Given the description of an element on the screen output the (x, y) to click on. 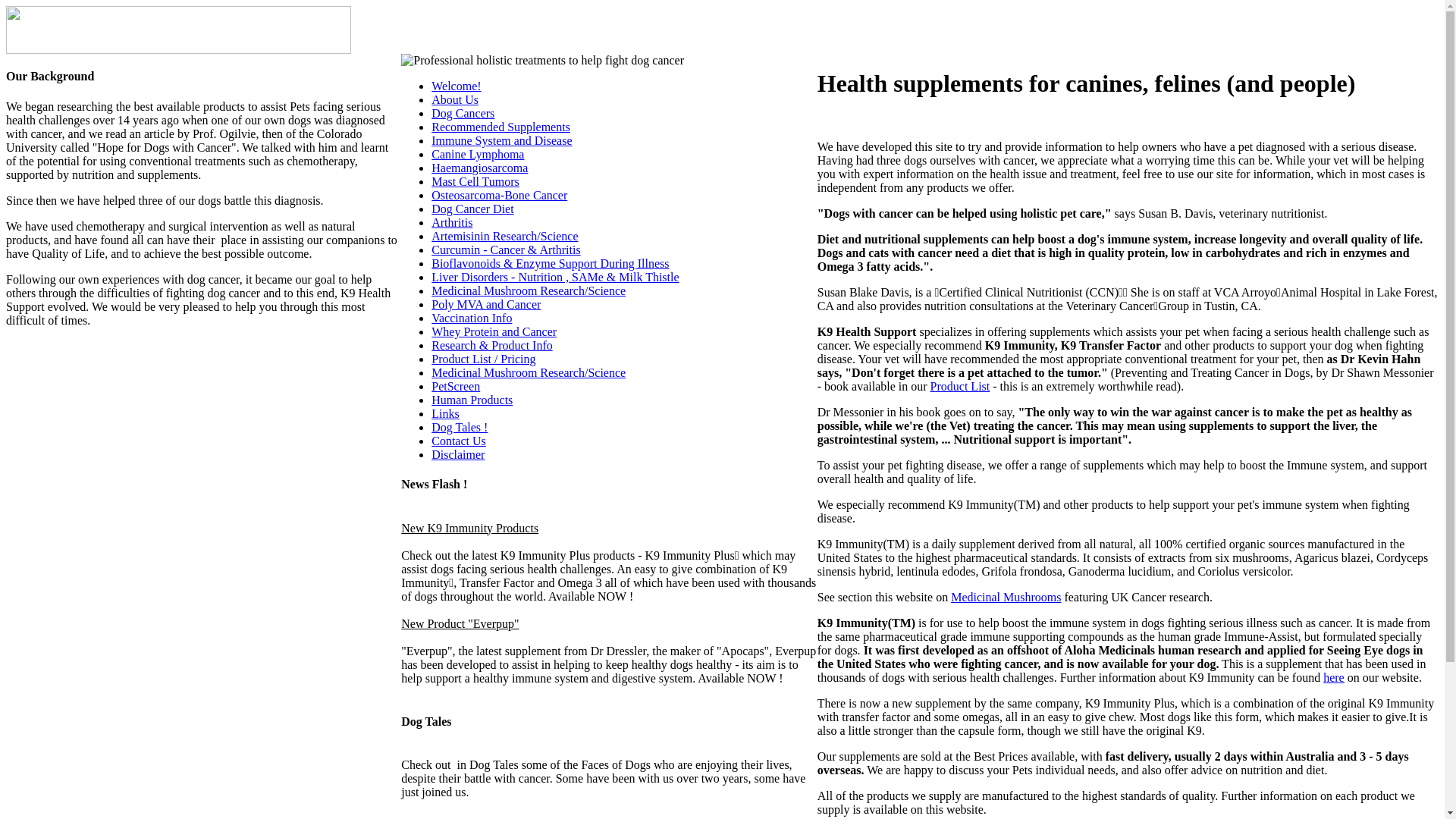
PetScreen Element type: text (455, 385)
Vaccination Info Element type: text (471, 317)
Whey Protein and Cancer Element type: text (493, 331)
Mast Cell Tumors Element type: text (475, 181)
Medicinal Mushrooms Element type: text (1005, 596)
Product List Element type: text (960, 385)
here Element type: text (1333, 677)
Osteosarcoma-Bone Cancer Element type: text (499, 194)
Dog Cancers Element type: text (462, 112)
Immune System and Disease Element type: text (501, 140)
Human Products Element type: text (471, 399)
Contact Us Element type: text (458, 440)
Dog Tales ! Element type: text (459, 426)
About Us Element type: text (454, 99)
Artemisinin Research/Science Element type: text (504, 235)
Curcumin - Cancer & Arthritis Element type: text (505, 249)
Disclaimer Element type: text (457, 454)
Medicinal Mushroom Research/Science Element type: text (528, 290)
Poly MVA and Cancer Element type: text (485, 304)
Bioflavonoids & Enzyme Support During Illness Element type: text (549, 263)
Recommended Supplements Element type: text (500, 126)
Links Element type: text (444, 413)
Dog Cancer Diet Element type: text (472, 208)
Medicinal Mushroom Research/Science Element type: text (528, 372)
Canine Lymphoma Element type: text (477, 153)
Research & Product Info Element type: text (491, 344)
Welcome! Element type: text (455, 85)
Liver Disorders - Nutrition , SAMe & Milk Thistle Element type: text (554, 276)
Arthritis Element type: text (451, 222)
Haemangiosarcoma Element type: text (479, 167)
Product List / Pricing Element type: text (483, 358)
